Given the description of an element on the screen output the (x, y) to click on. 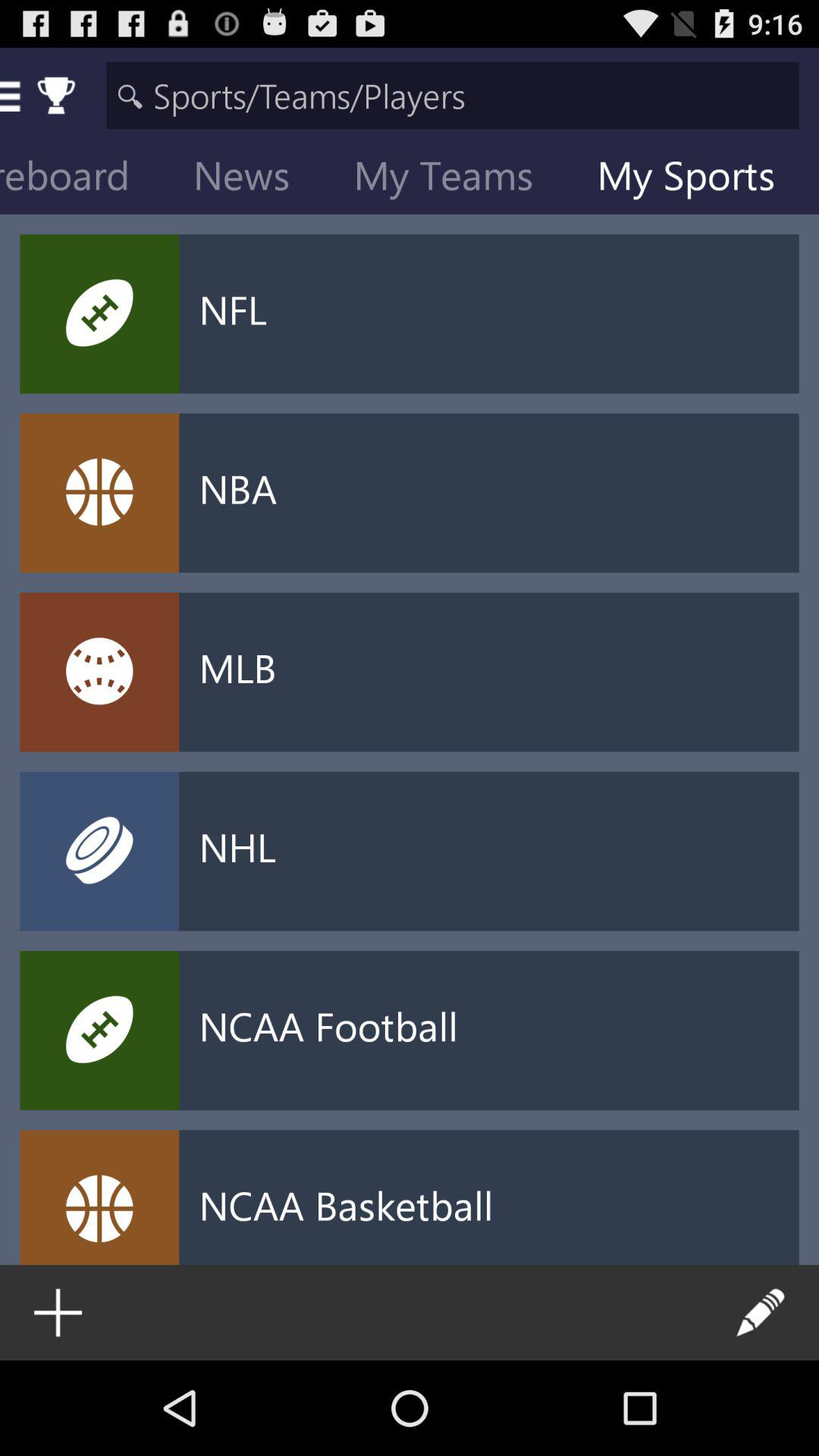
swipe to the scoreboard item (86, 178)
